Given the description of an element on the screen output the (x, y) to click on. 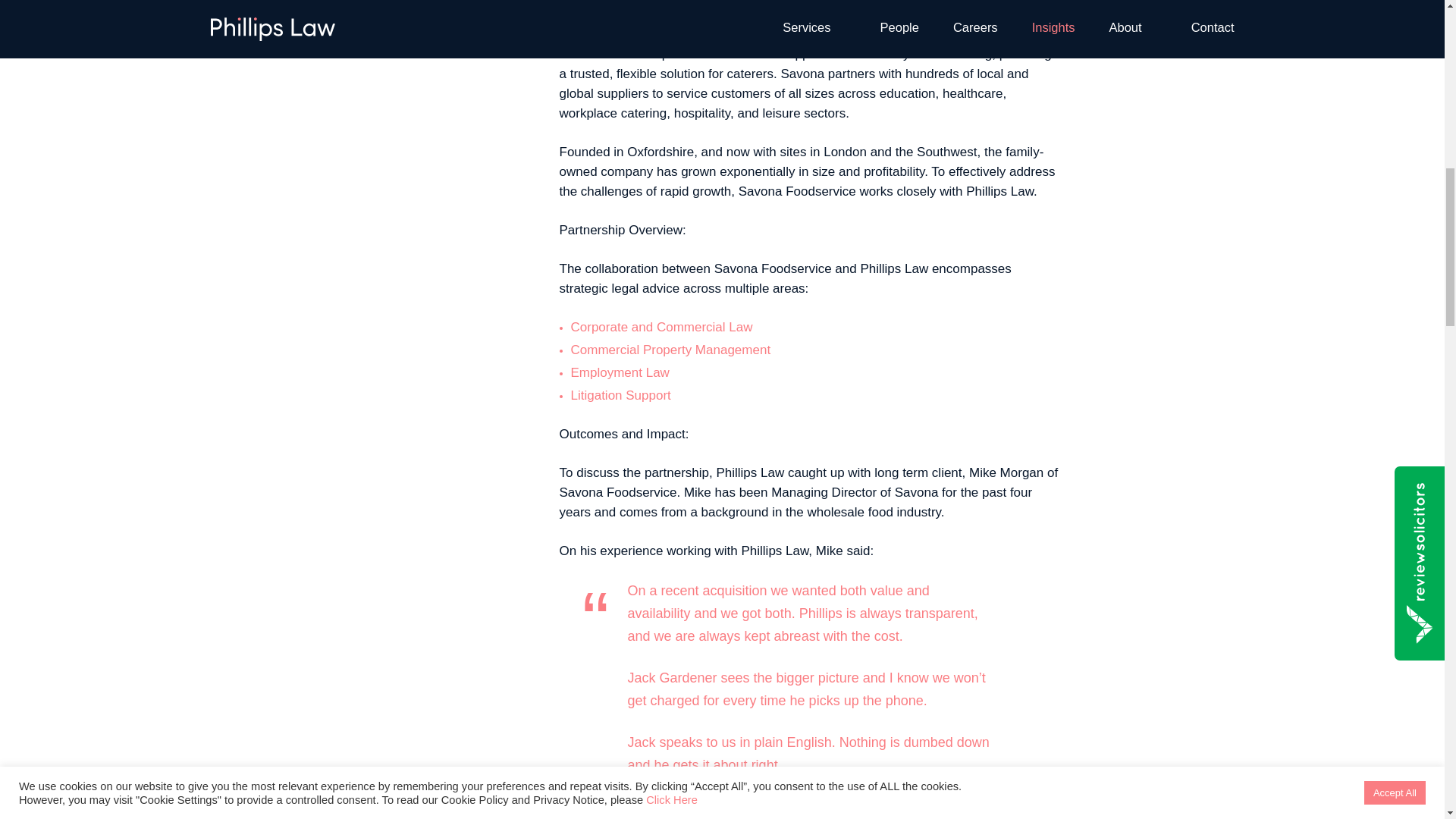
Commercial Property Management (670, 350)
Litigation Support (619, 395)
Corporate and Commercial Law (661, 327)
Jack Gardener (672, 677)
Employment Law (619, 372)
